Given the description of an element on the screen output the (x, y) to click on. 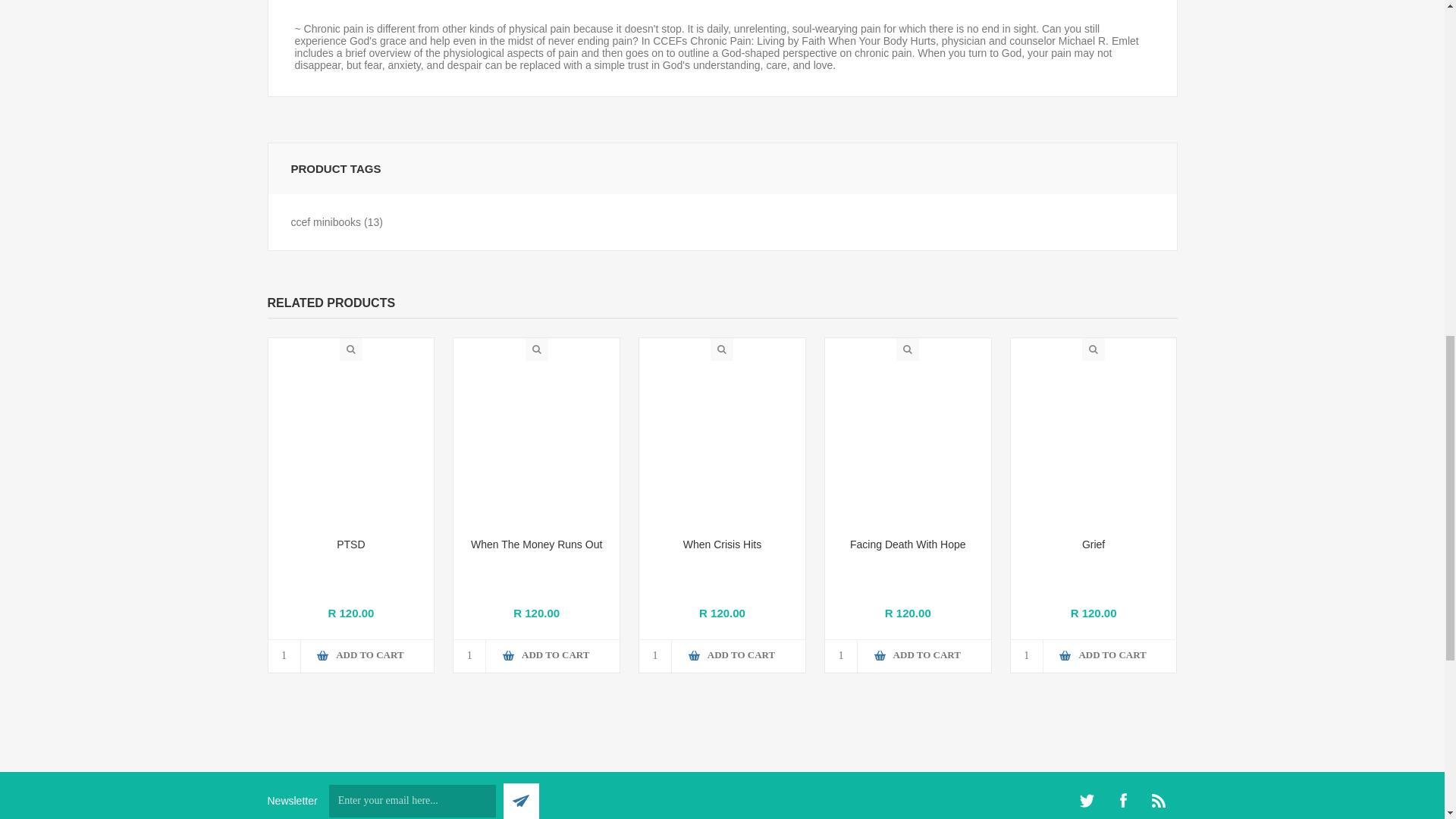
1 (284, 655)
1 (1026, 655)
1 (841, 655)
1 (655, 655)
1 (469, 655)
